Given the description of an element on the screen output the (x, y) to click on. 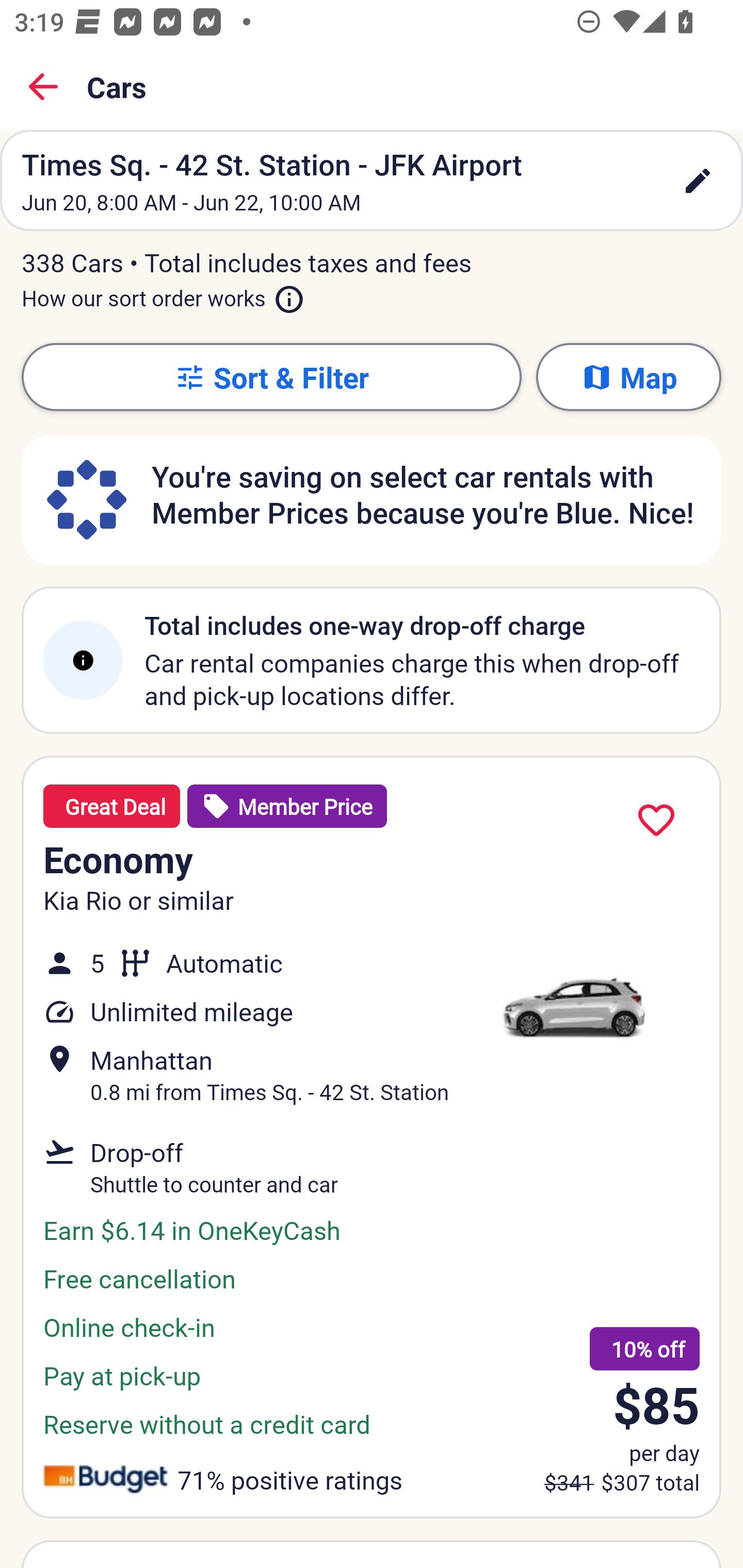
Back (43, 86)
edit (697, 180)
How our sort order works (163, 294)
Sort & Filter (271, 376)
Map (628, 376)
